Given the description of an element on the screen output the (x, y) to click on. 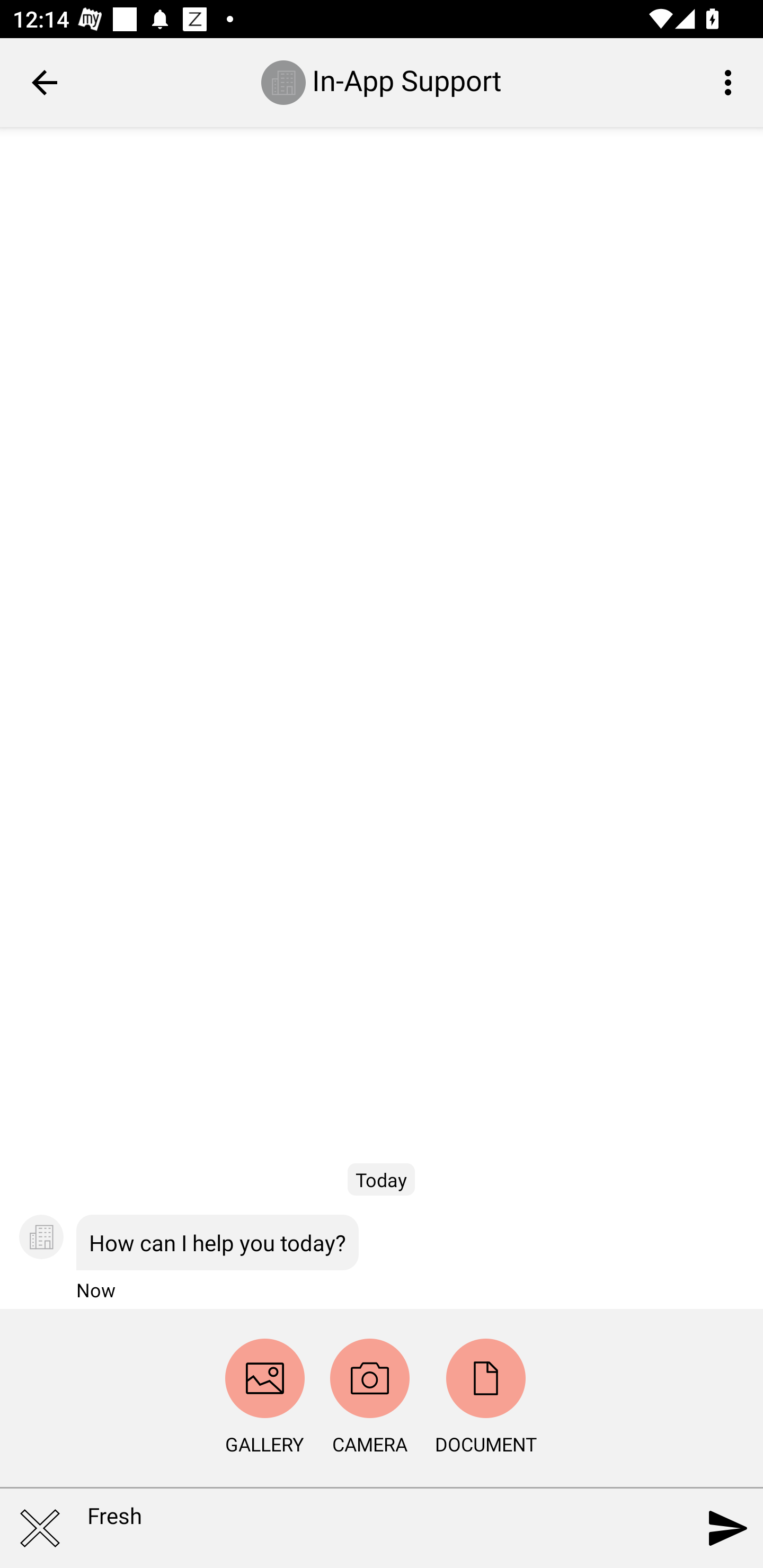
Navigate up (44, 82)
More options (731, 81)
Gallery (264, 1378)
Camera (369, 1378)
Document (485, 1378)
Attachment menu button expanded (39, 1528)
SEND (727, 1528)
Fresh
 (357, 1528)
